Given the description of an element on the screen output the (x, y) to click on. 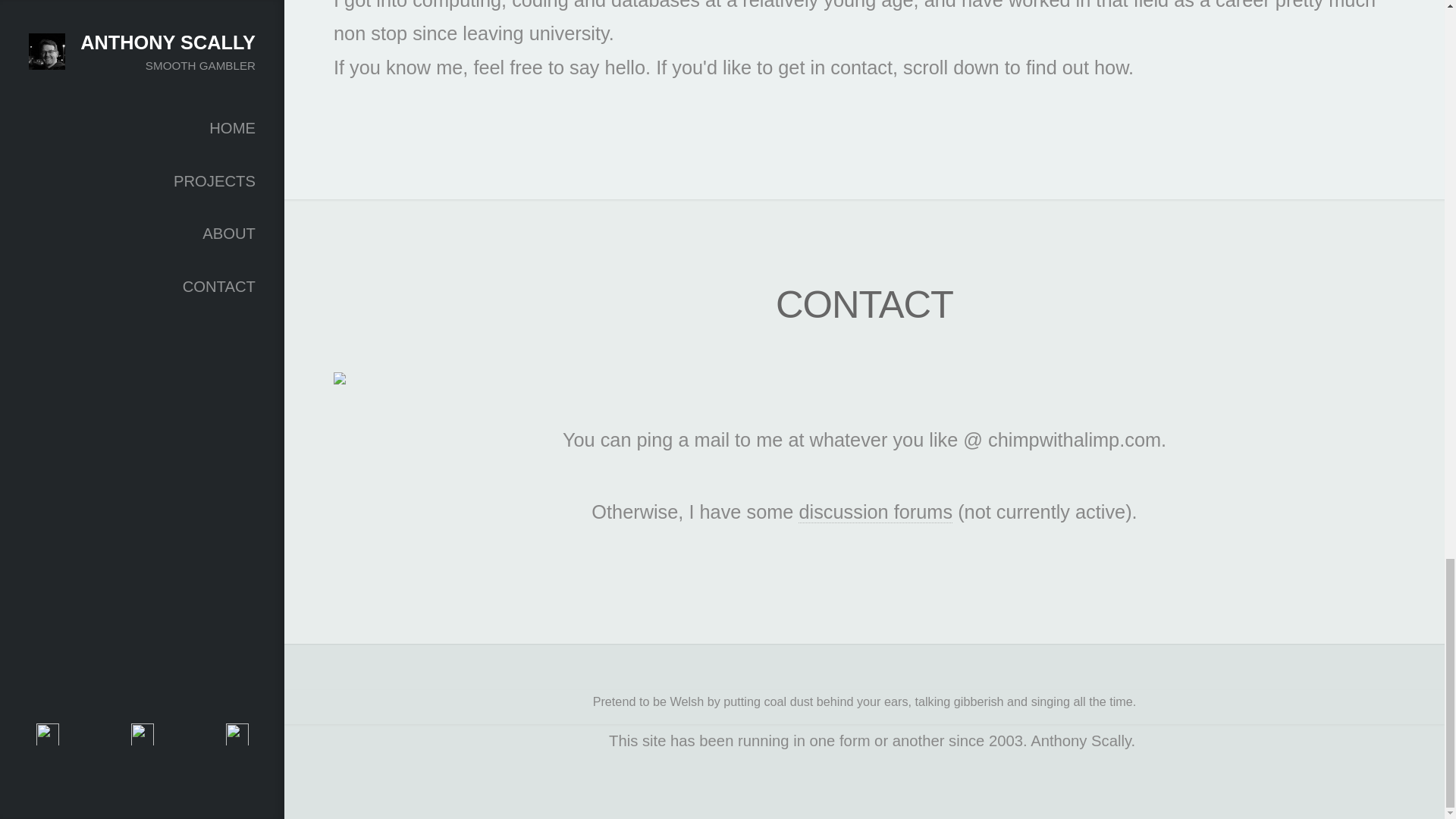
discussion forums (874, 512)
